Given the description of an element on the screen output the (x, y) to click on. 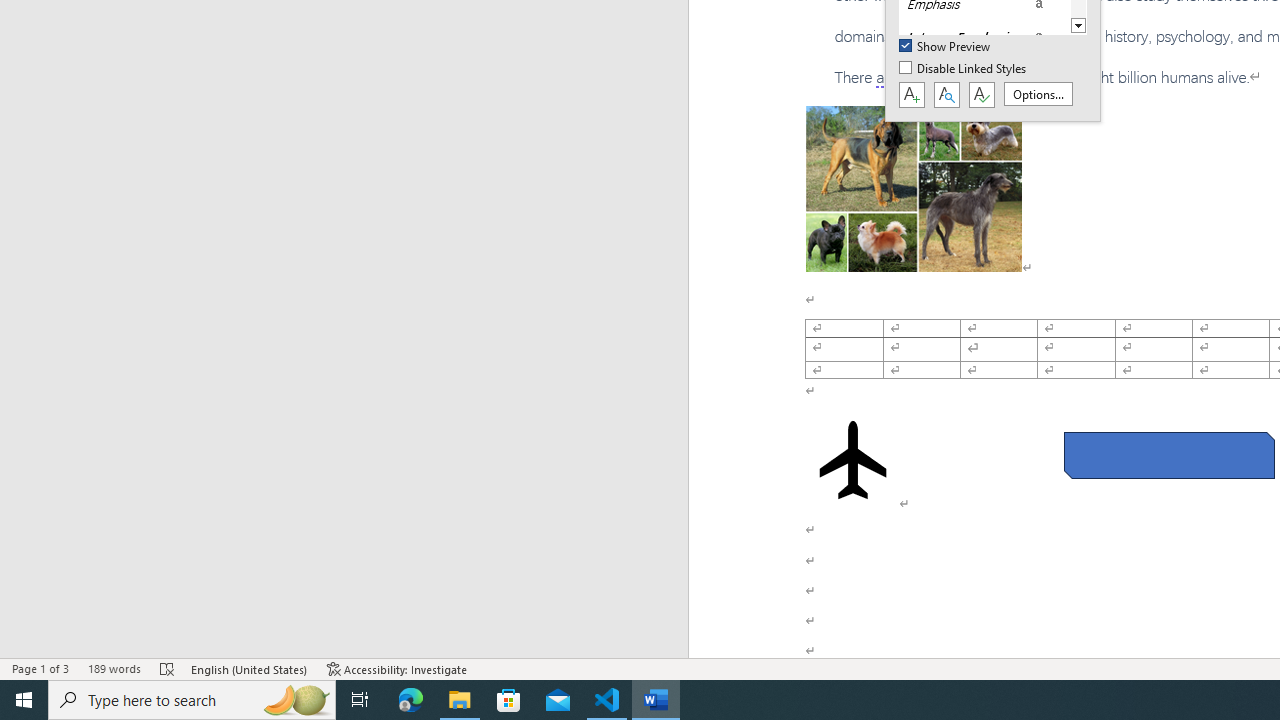
Airplane with solid fill (852, 459)
Disable Linked Styles (964, 69)
Intense Emphasis (984, 37)
Accessibility Checker Accessibility: Investigate (397, 668)
Language English (United States) (250, 668)
Options... (1037, 93)
Class: NetUIButton (981, 95)
Page Number Page 1 of 3 (39, 668)
Rectangle: Diagonal Corners Snipped 2 (1168, 455)
Morphological variation in six dogs (913, 188)
Class: NetUIImage (971, 37)
Show Preview (946, 47)
Spelling and Grammar Check Errors (168, 668)
